Given the description of an element on the screen output the (x, y) to click on. 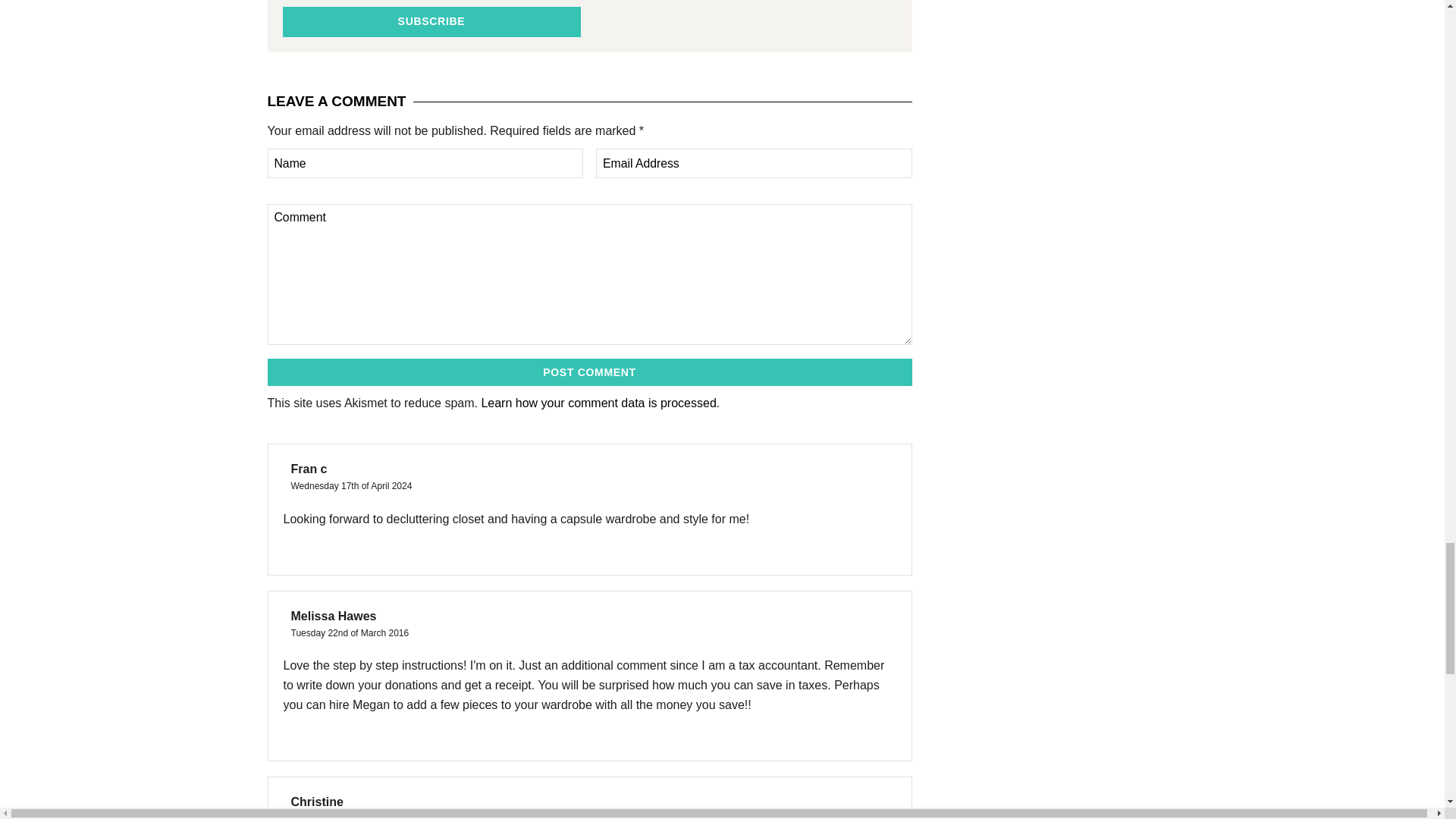
Post Comment (588, 371)
Subscribe (430, 21)
